Given the description of an element on the screen output the (x, y) to click on. 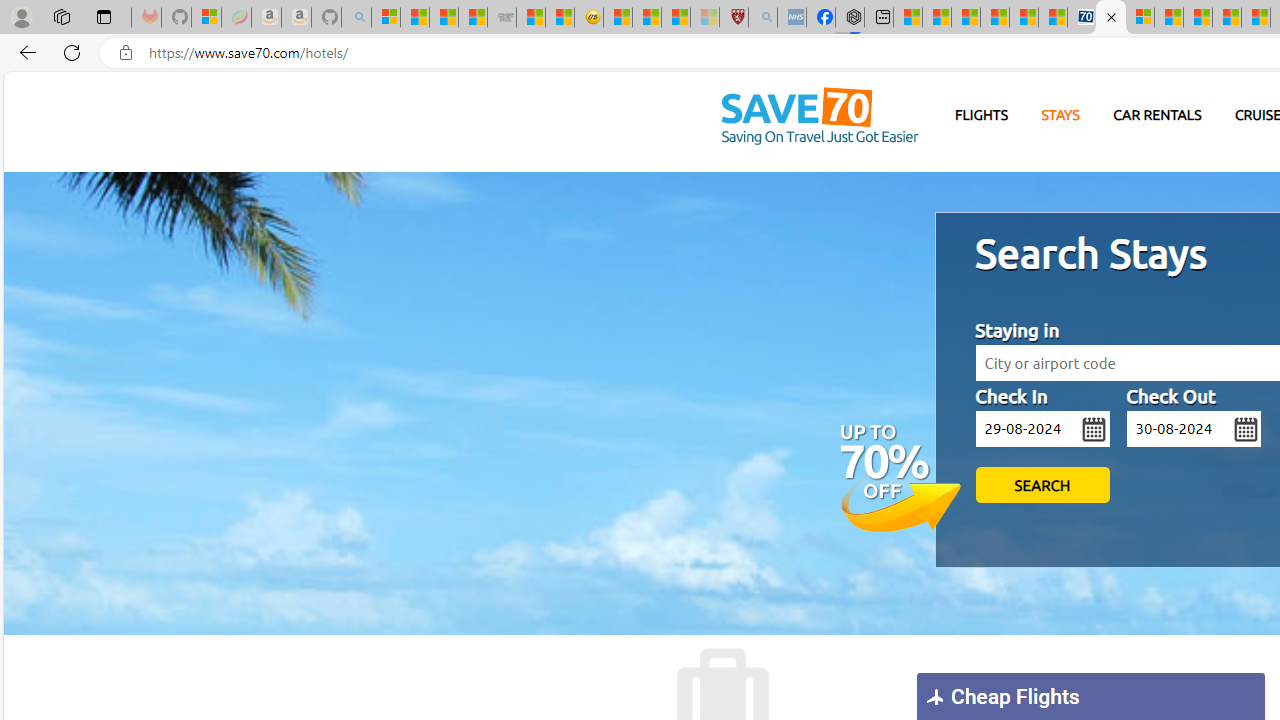
CAR RENTALS (1157, 115)
CAR RENTALS (1157, 115)
mm/dd/yy (1193, 429)
